Given the description of an element on the screen output the (x, y) to click on. 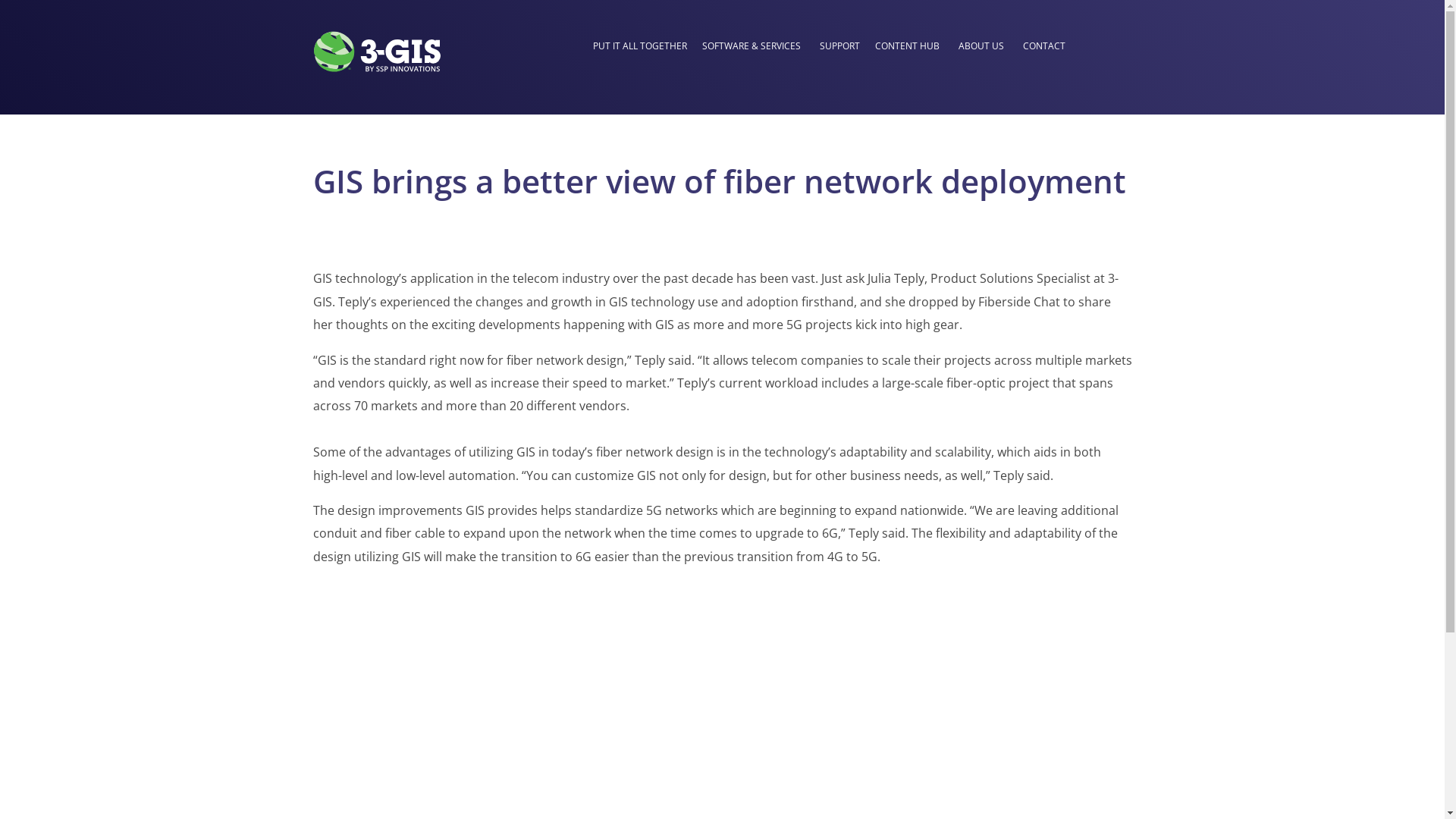
SUPPORT Element type: text (839, 46)
CONTACT Element type: text (1043, 46)
PUT IT ALL TOGETHER Element type: text (640, 46)
ABOUT US Element type: text (981, 46)
CONTENT HUB Element type: text (907, 46)
logo-landscape Element type: hover (376, 51)
SOFTWARE & SERVICES Element type: text (751, 46)
